Given the description of an element on the screen output the (x, y) to click on. 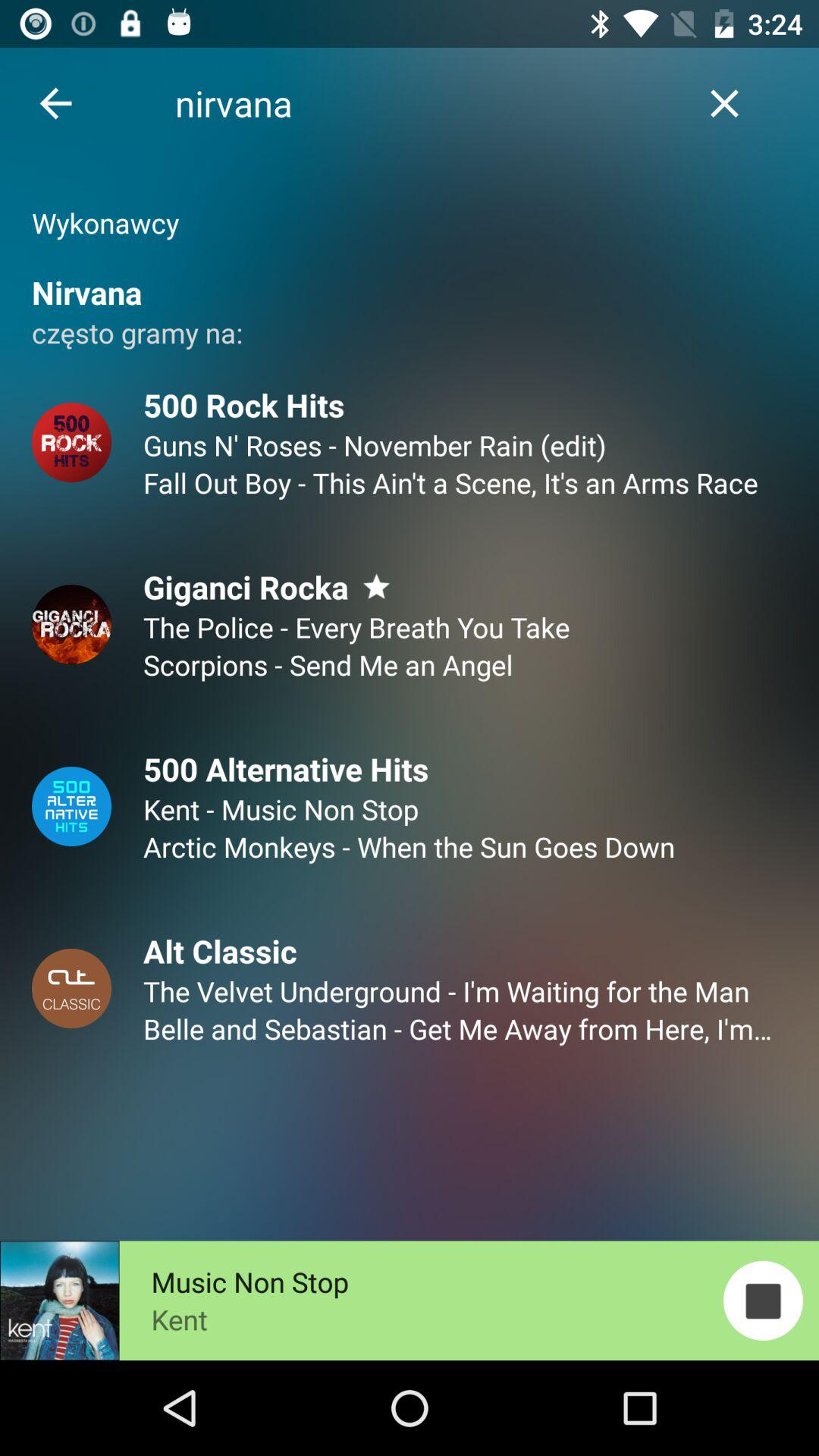
turn off the item to the right of nirvana (724, 103)
